Given the description of an element on the screen output the (x, y) to click on. 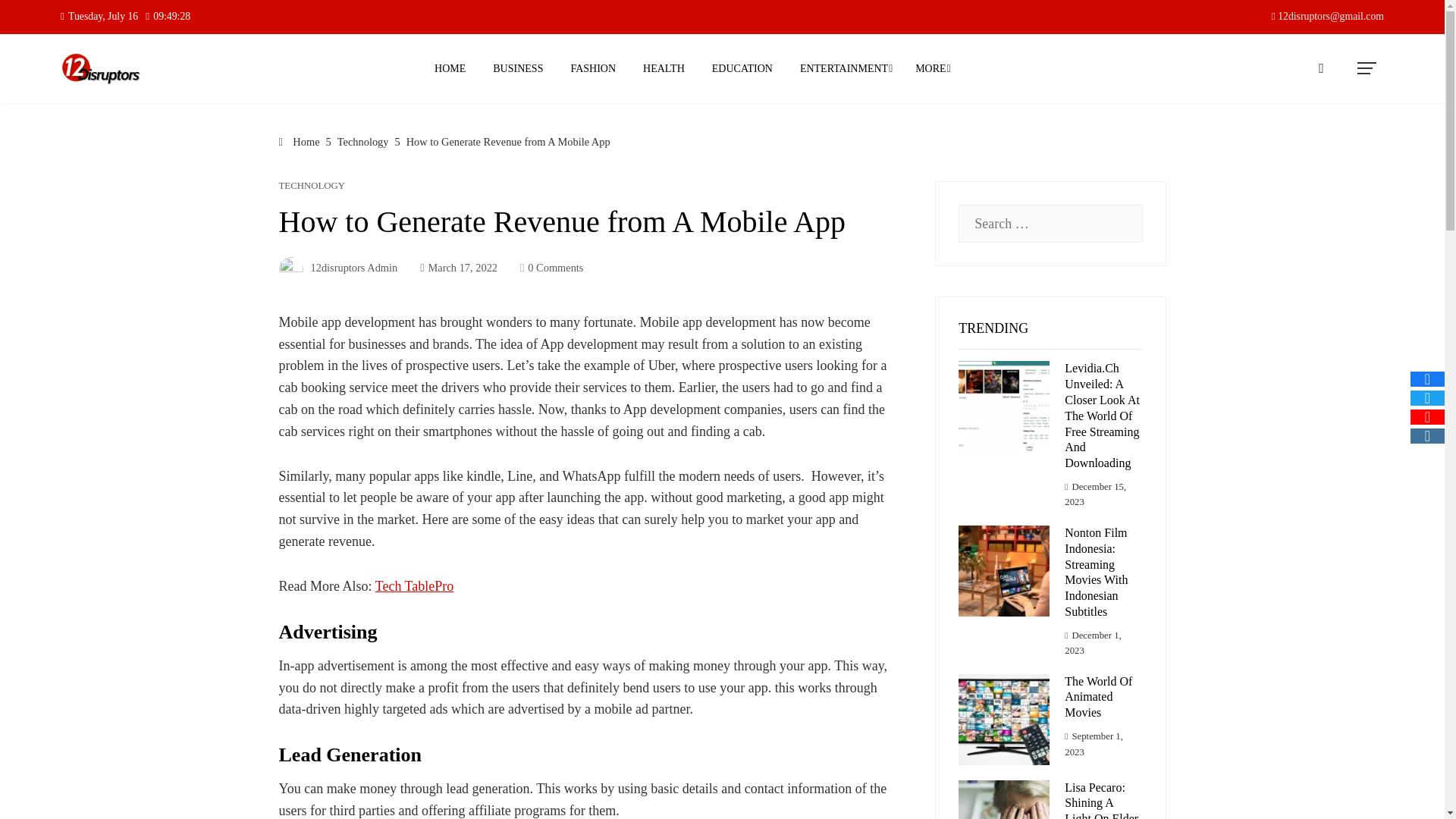
BUSINESS (517, 68)
ENTERTAINMENT (844, 68)
HEALTH (663, 68)
EDUCATION (742, 68)
FASHION (593, 68)
